Given the description of an element on the screen output the (x, y) to click on. 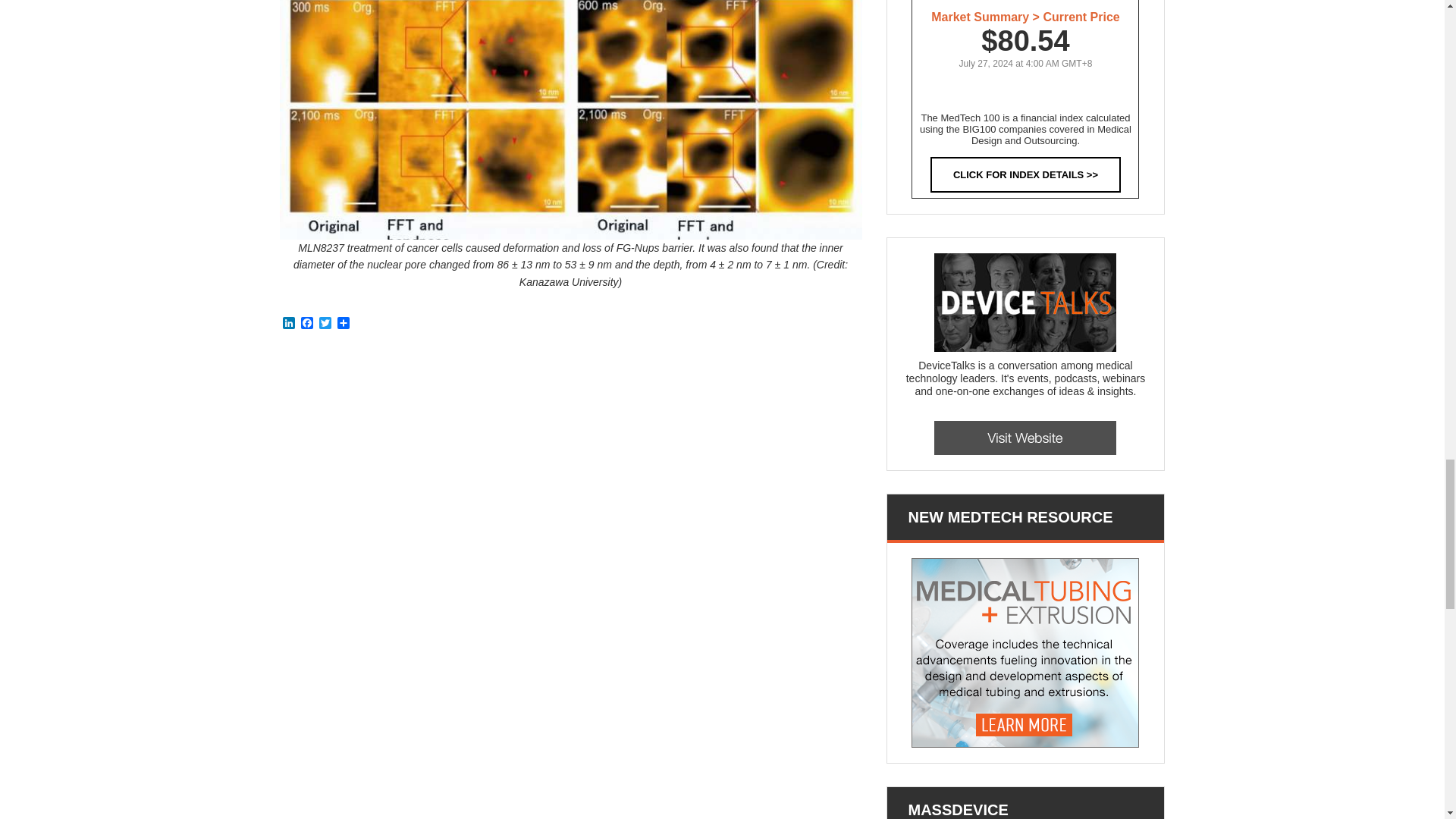
Facebook (306, 323)
DeviceTalks (1025, 302)
Twitter (324, 323)
Device Talks (1025, 437)
LinkedIn (288, 323)
